Given the description of an element on the screen output the (x, y) to click on. 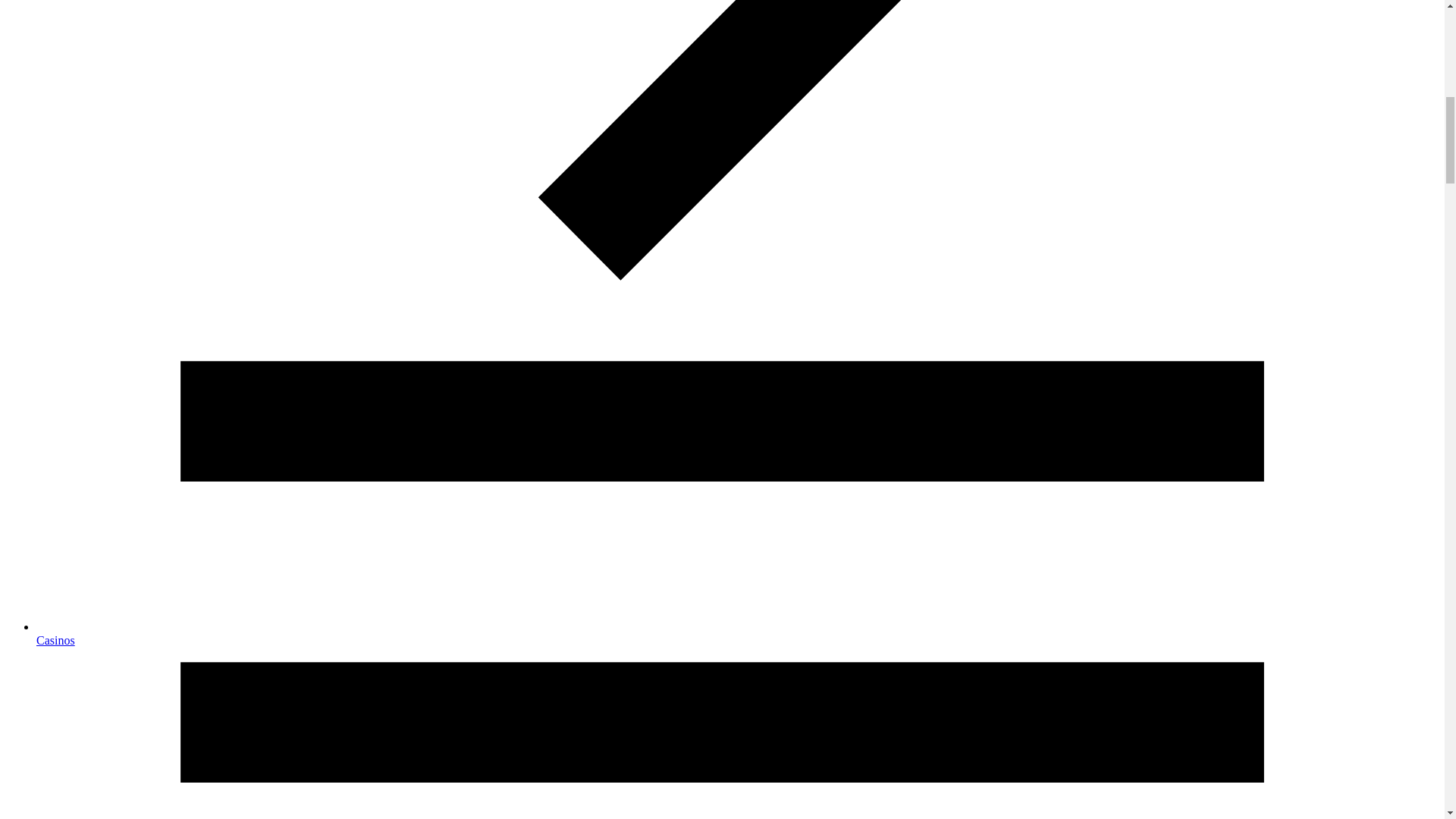
Casinos (55, 640)
